Given the description of an element on the screen output the (x, y) to click on. 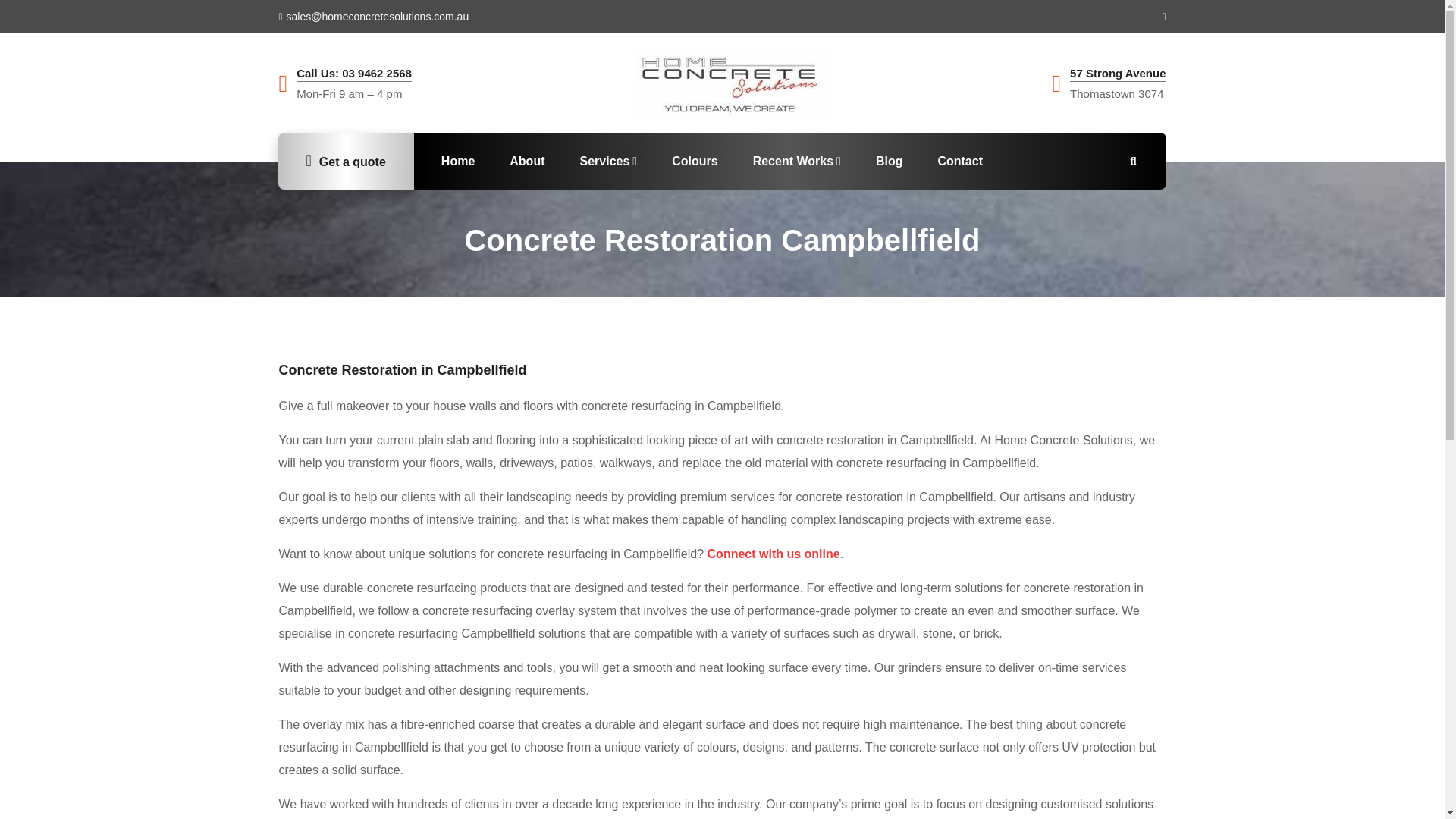
Services (608, 160)
Connect with us online (773, 553)
Recent Works (796, 160)
Get a quote (345, 160)
Home Concrete Solutions (731, 84)
